Given the description of an element on the screen output the (x, y) to click on. 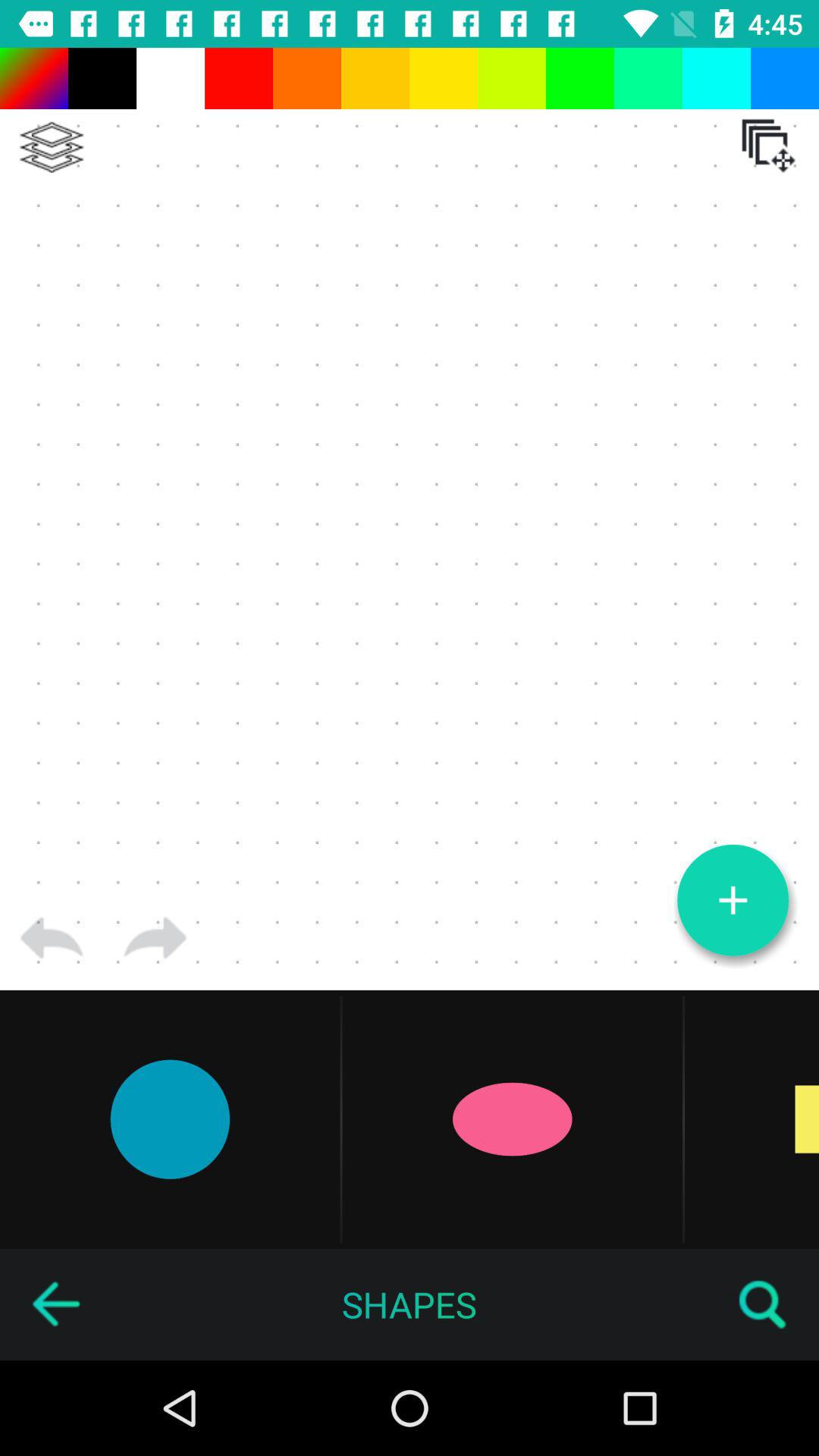
sort photos vertically (51, 147)
